Given the description of an element on the screen output the (x, y) to click on. 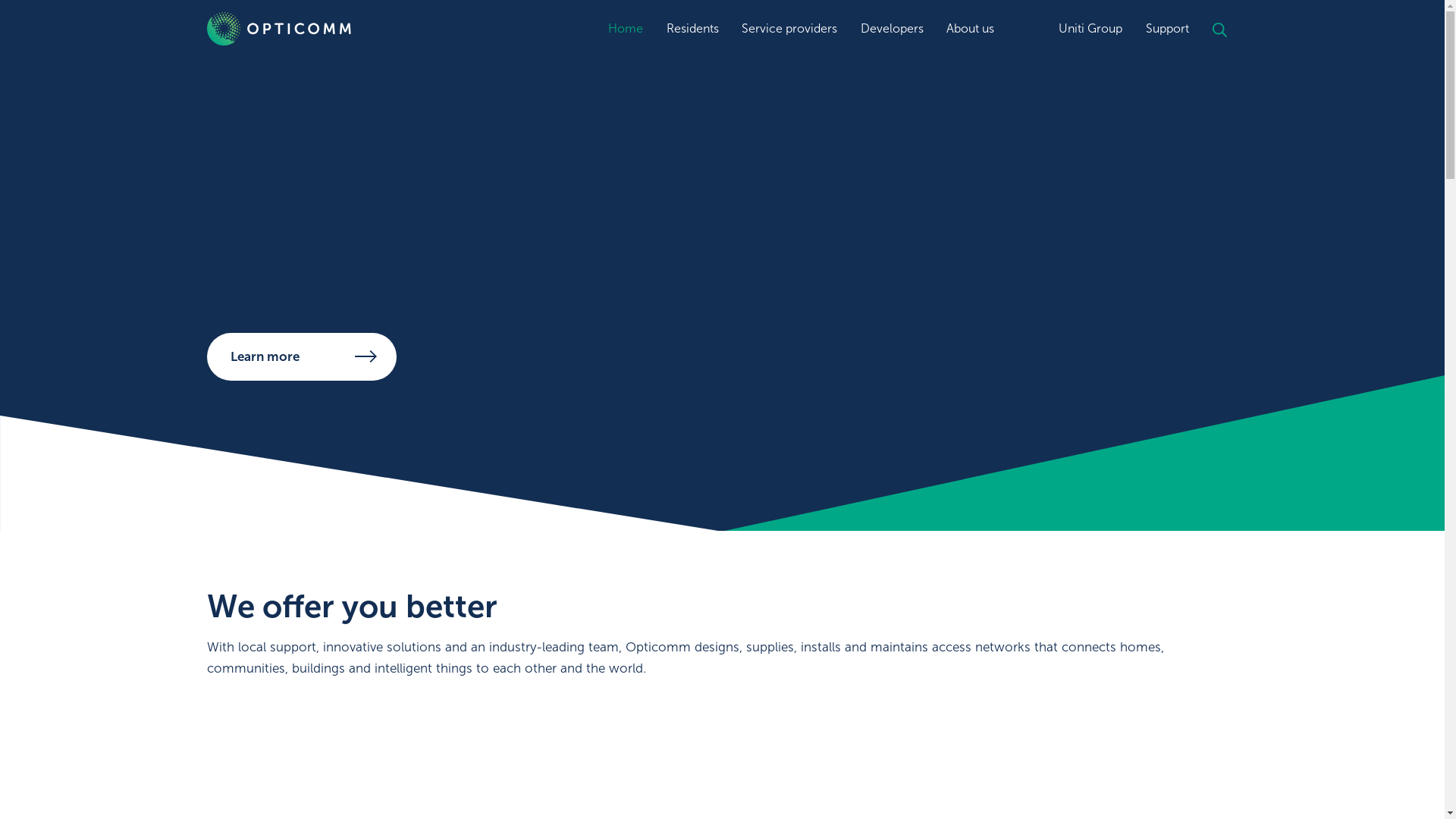
Home Element type: text (625, 28)
Opticomm Element type: hover (319, 28)
Uniti Group Element type: text (1090, 28)
Developers Element type: text (892, 28)
Support Element type: text (1167, 28)
About us Element type: text (970, 28)
Learn more Element type: text (300, 356)
Residents Element type: text (692, 28)
Service providers Element type: text (789, 28)
